Given the description of an element on the screen output the (x, y) to click on. 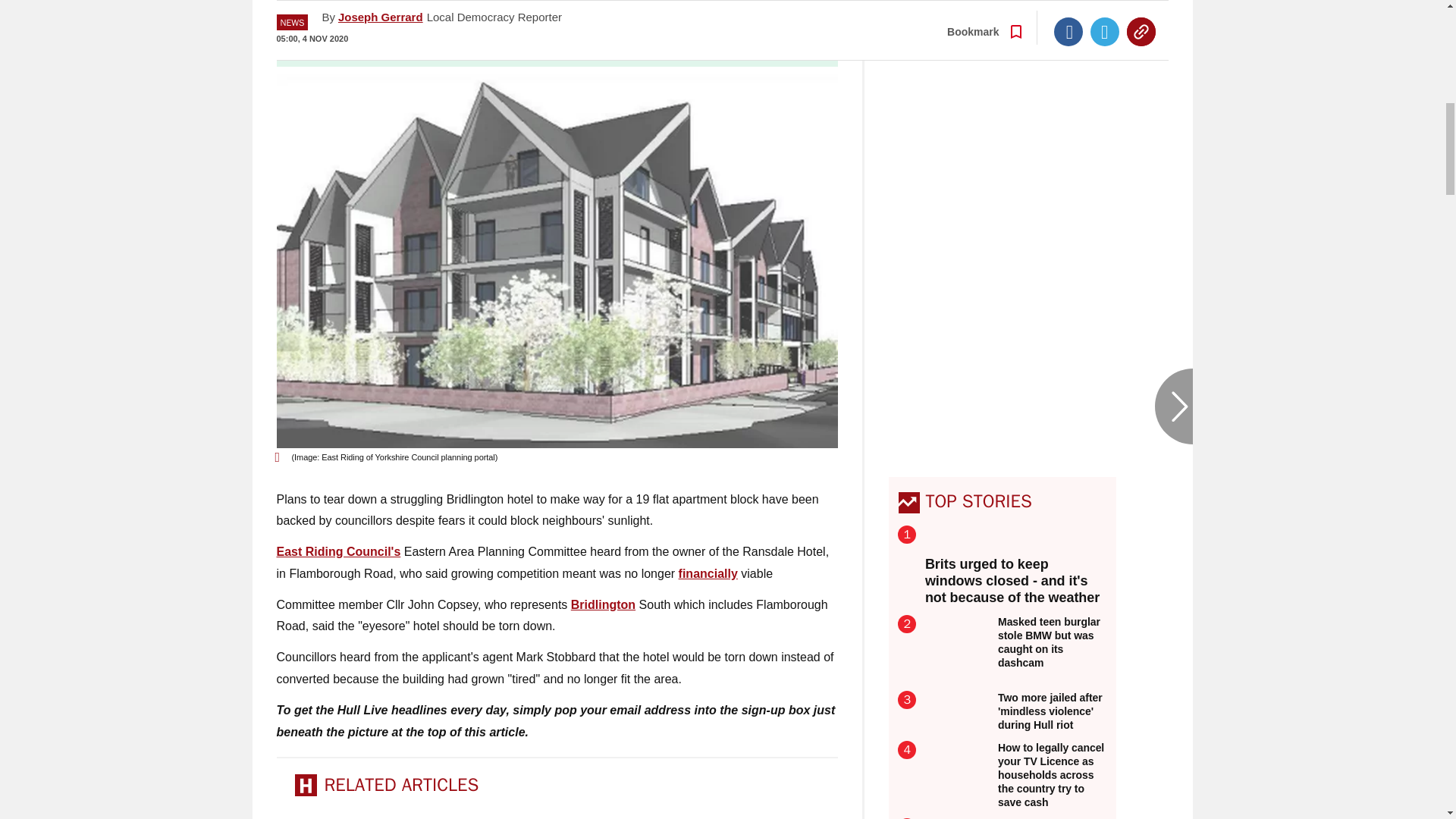
Go (730, 40)
Latest East Riding of Yorkshire Council news- Hull Live (338, 551)
Latest Bridlington news- Hull Live (602, 604)
Latest business news- Hull Live (708, 573)
